Given the description of an element on the screen output the (x, y) to click on. 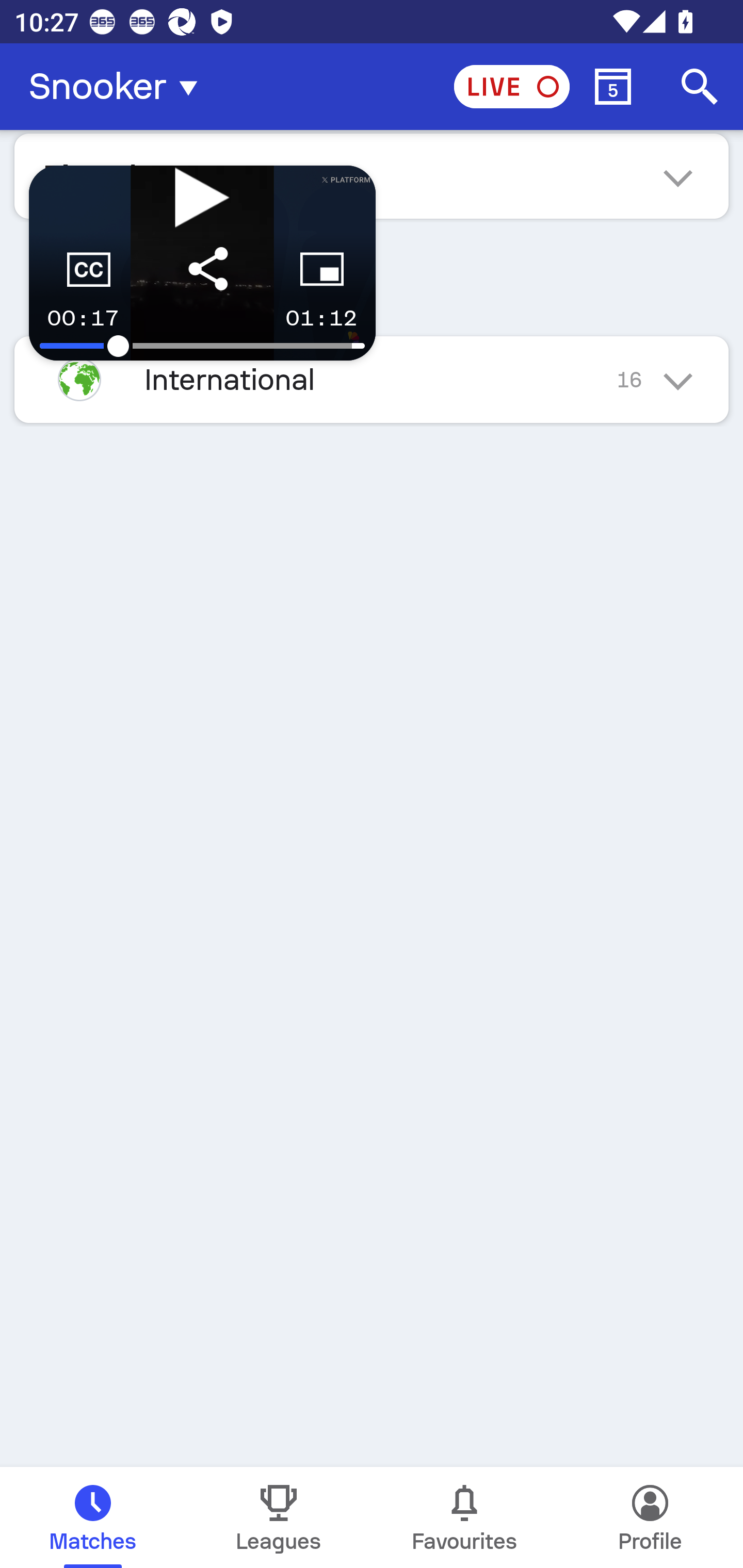
Snooker (118, 86)
Calendar (612, 86)
Search (699, 86)
International 16 (371, 379)
Leagues (278, 1517)
Favourites (464, 1517)
Profile (650, 1517)
